Given the description of an element on the screen output the (x, y) to click on. 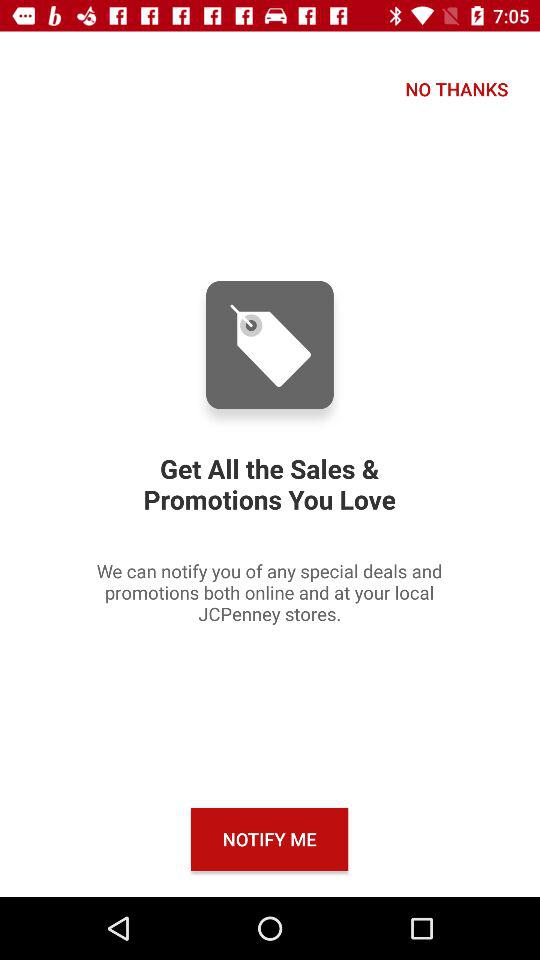
select the notify me icon (269, 838)
